Given the description of an element on the screen output the (x, y) to click on. 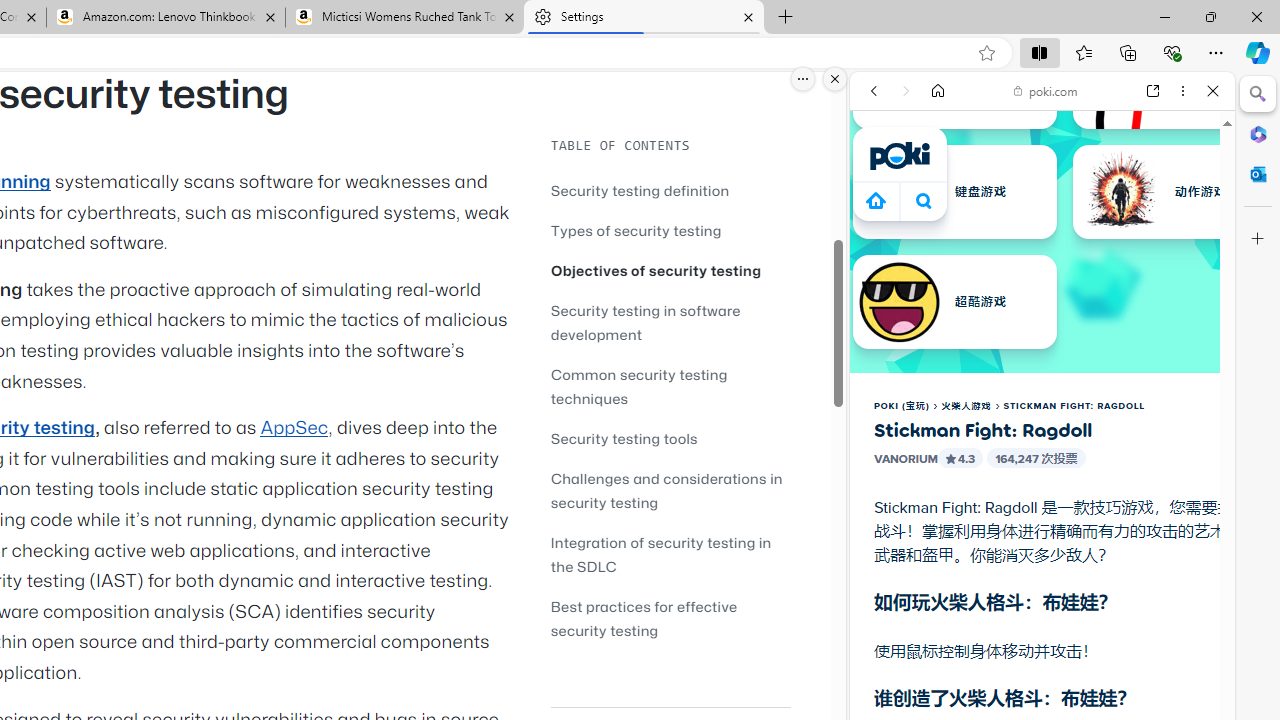
Class: B_5ykBA46kDOxiz_R9wm (923, 200)
Integration of security testing in the SDLC (670, 553)
Car Games (1042, 470)
Security testing in software development (645, 321)
AppSec (293, 428)
WEB   (882, 228)
Class: aprWdaSScyiJf4Jvmsx9 (875, 200)
Show More Shooting Games (1164, 521)
